Given the description of an element on the screen output the (x, y) to click on. 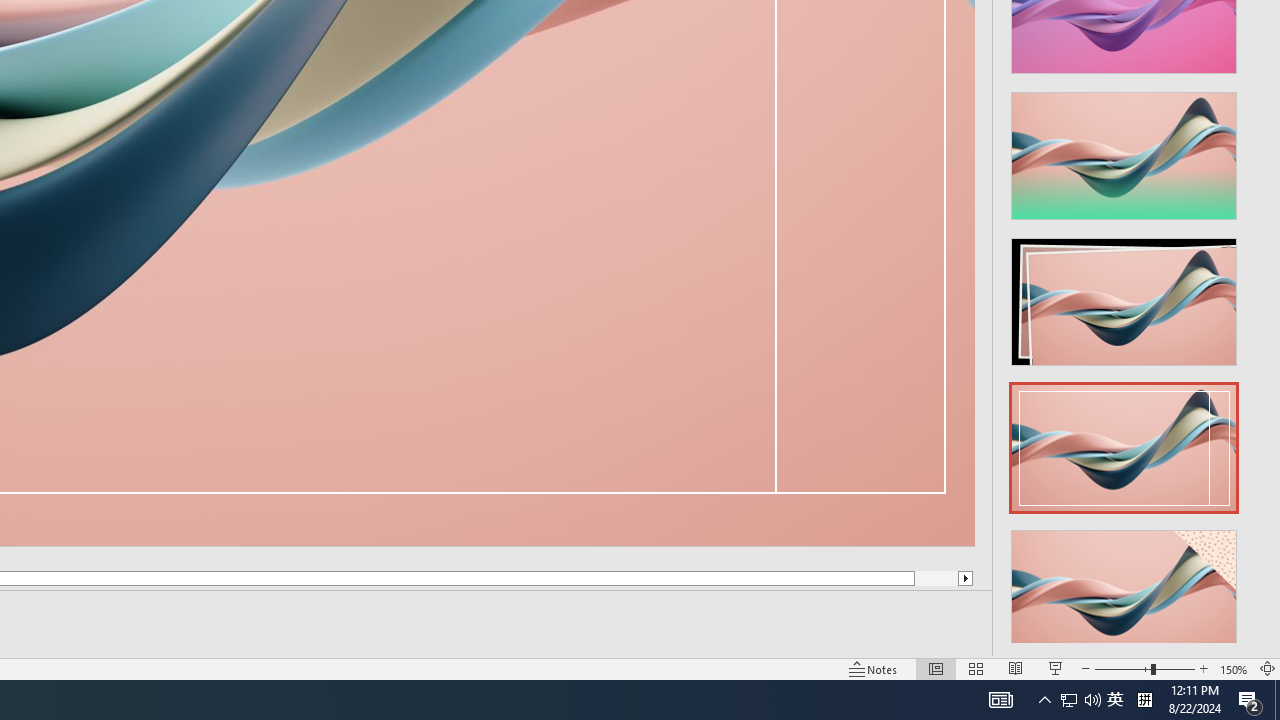
Zoom 150% (1234, 668)
Design Idea (1124, 587)
